Given the description of an element on the screen output the (x, y) to click on. 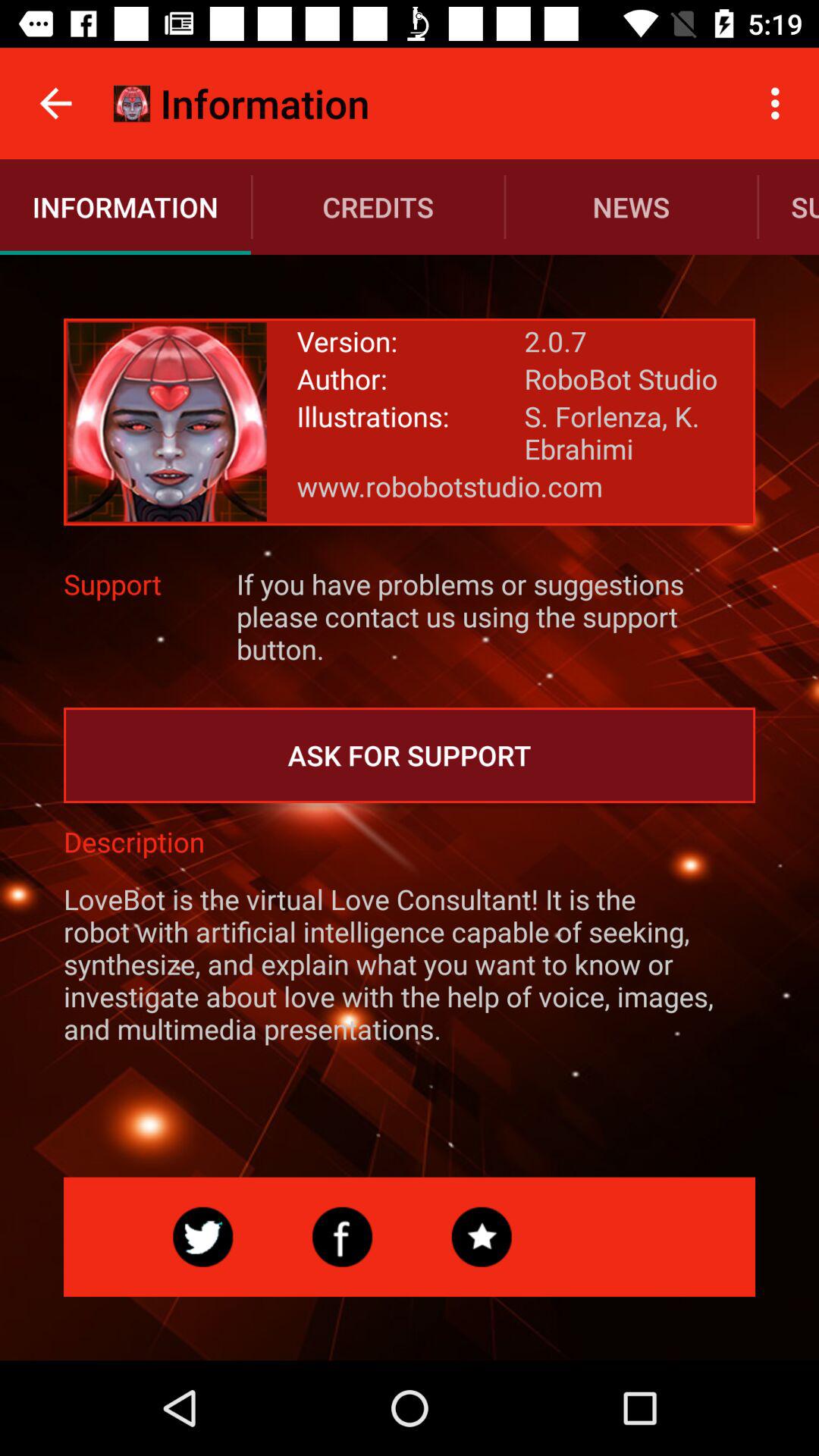
view facebook page (342, 1236)
